Given the description of an element on the screen output the (x, y) to click on. 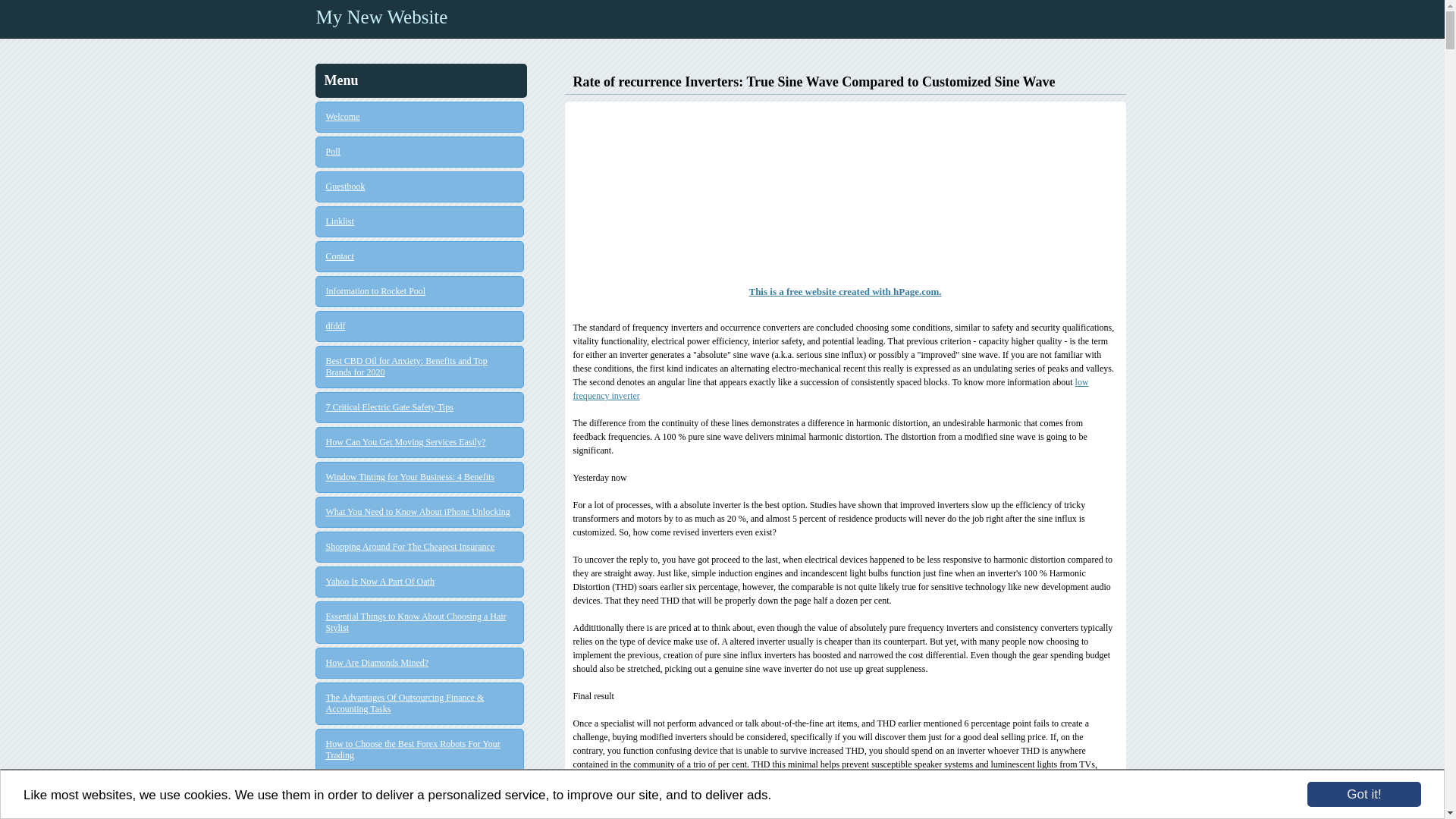
Legal Translation Service Guide (419, 790)
Contact (419, 256)
dfddf (419, 326)
How Can You Get Moving Services Easily? (419, 441)
7 Critical Electric Gate Safety Tips (419, 407)
Information to Rocket Pool (419, 291)
How to Choose the Best Forex Robots For Your Trading (419, 749)
Window Tinting for Your Business: 4 Benefits (419, 477)
What You Need to Know About iPhone Unlocking (419, 511)
Shopping Around For The Cheapest Insurance (419, 546)
Poll (419, 152)
Linklist (419, 221)
Guestbook (419, 186)
Best CBD Oil for Anxiety: Benefits and Top Brands for 2020 (419, 366)
Essential Things to Know About Choosing a Hair Stylist (419, 621)
